Given the description of an element on the screen output the (x, y) to click on. 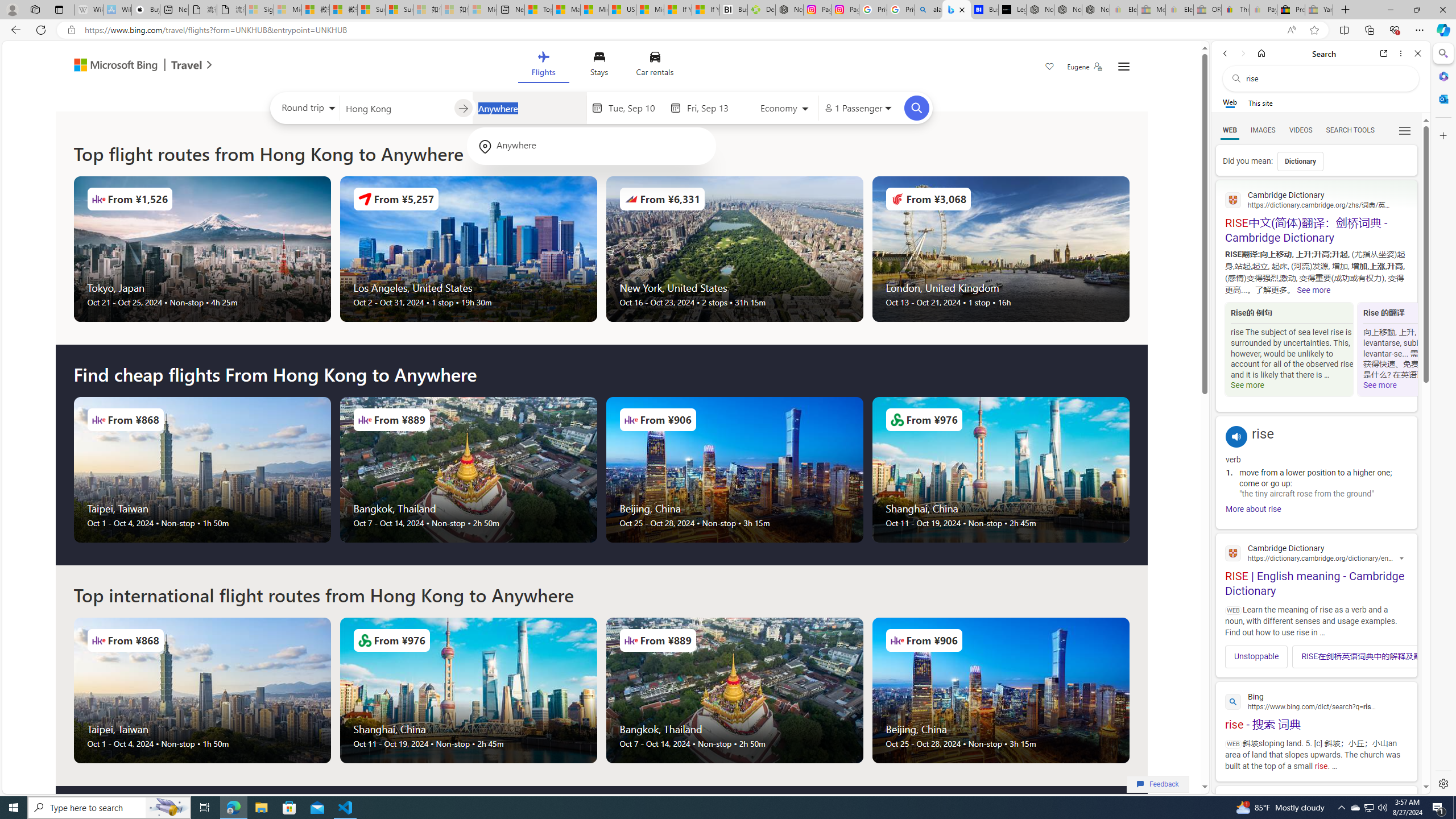
Flights (542, 65)
Save (1049, 67)
